Given the description of an element on the screen output the (x, y) to click on. 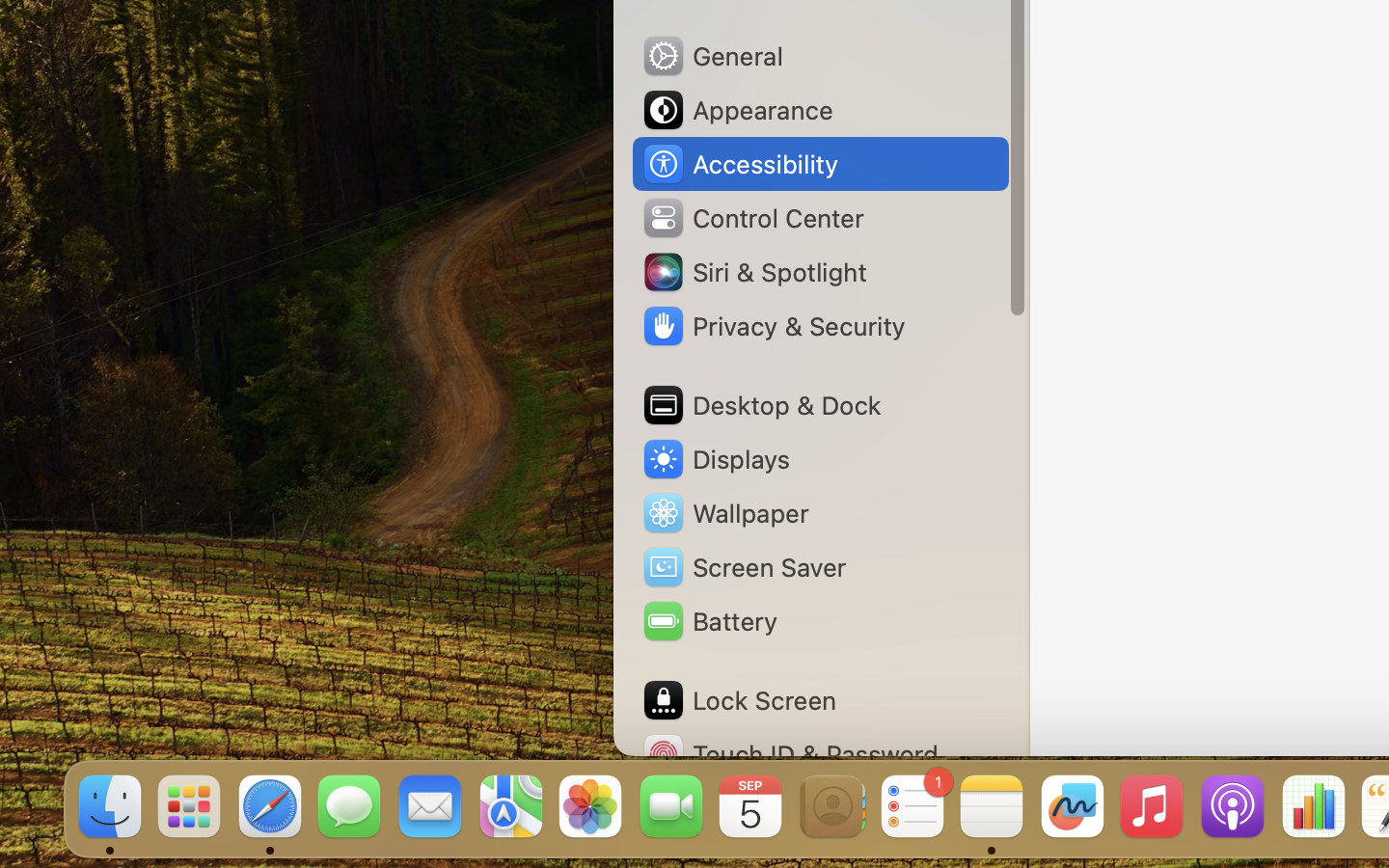
Battery Element type: AXStaticText (708, 620)
Touch ID & Password Element type: AXStaticText (789, 754)
General Element type: AXStaticText (711, 55)
